Given the description of an element on the screen output the (x, y) to click on. 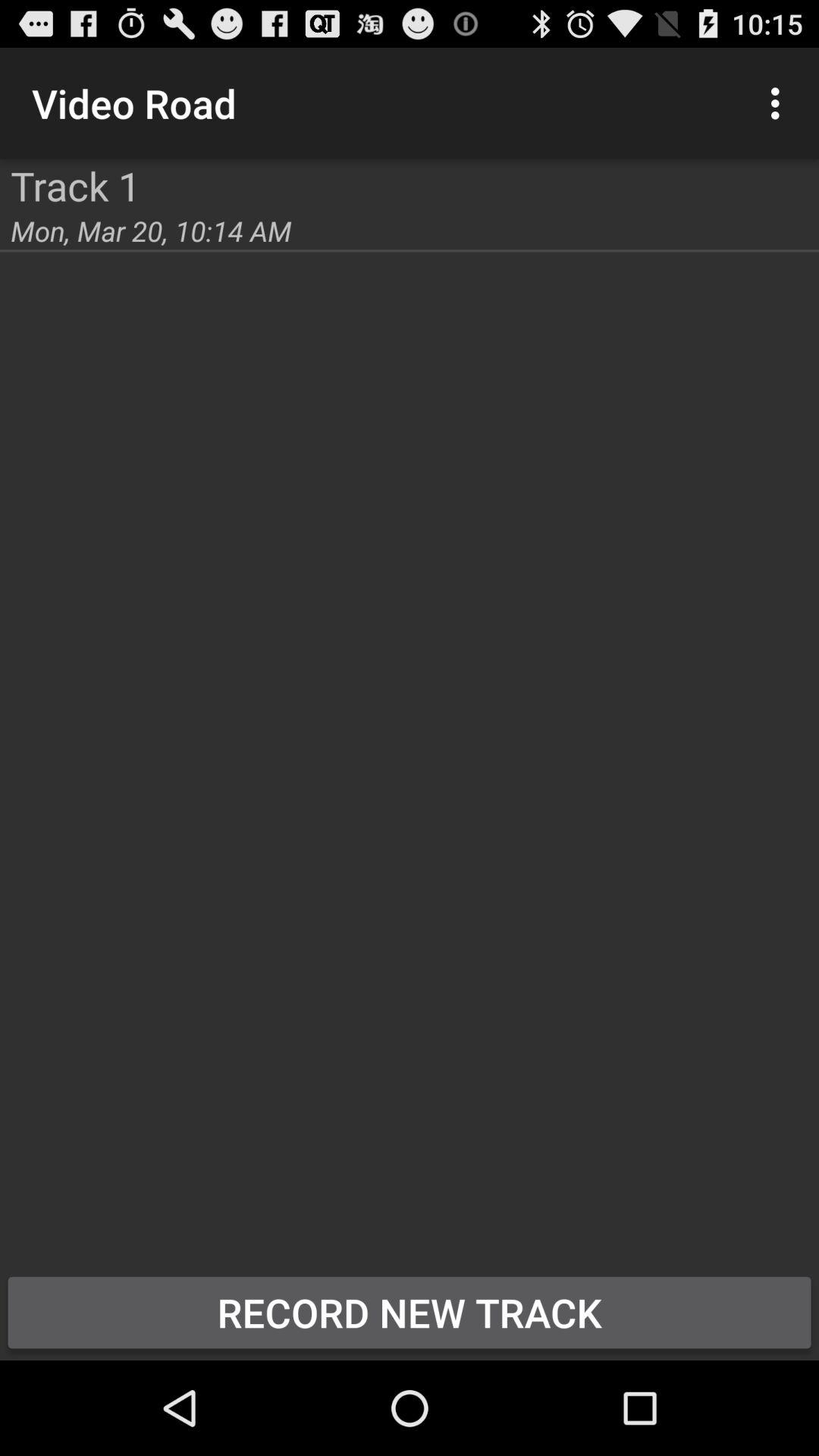
turn off the icon above record new track icon (0, 159)
